Given the description of an element on the screen output the (x, y) to click on. 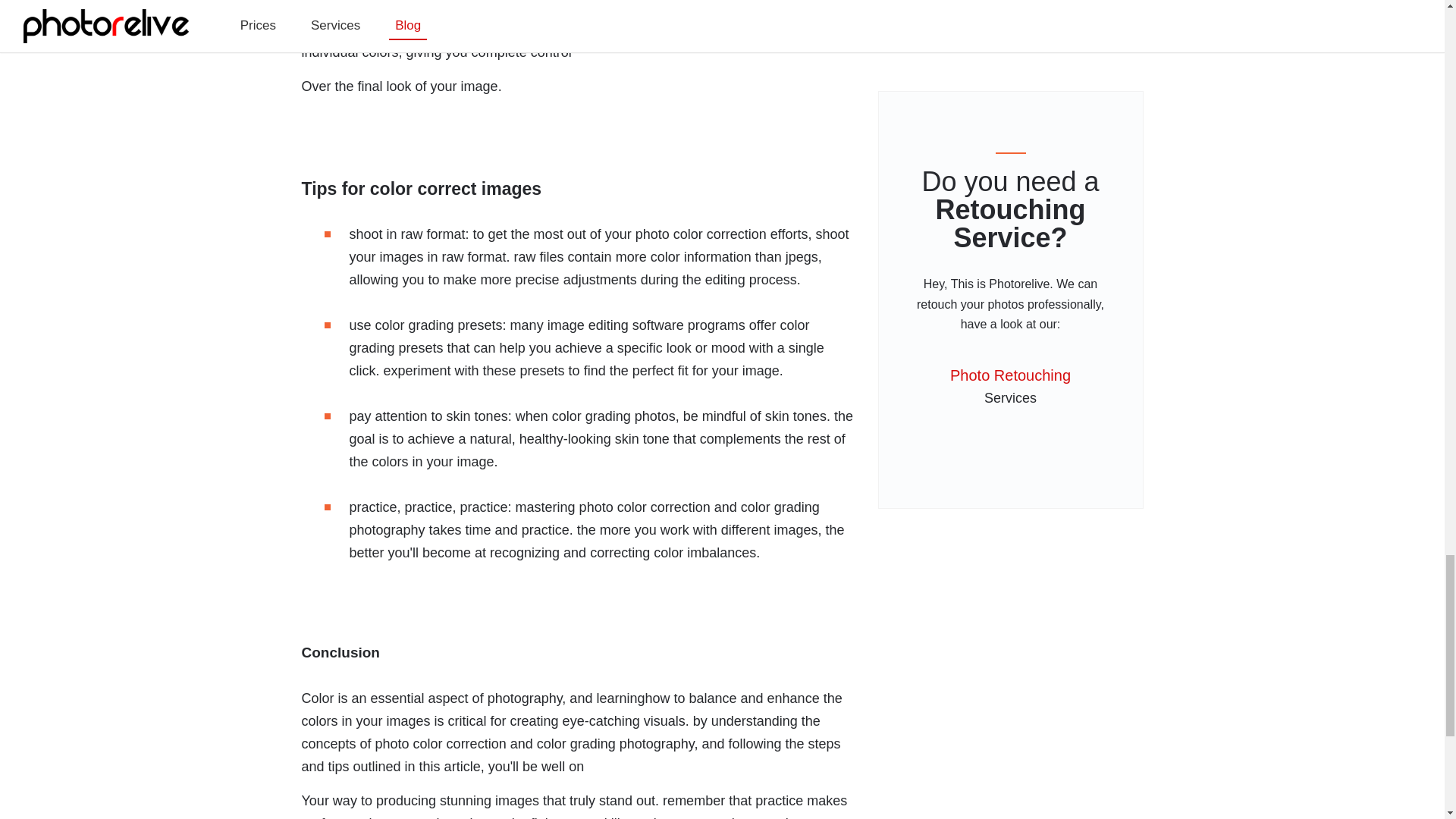
Tips for color correct images (578, 153)
